Given the description of an element on the screen output the (x, y) to click on. 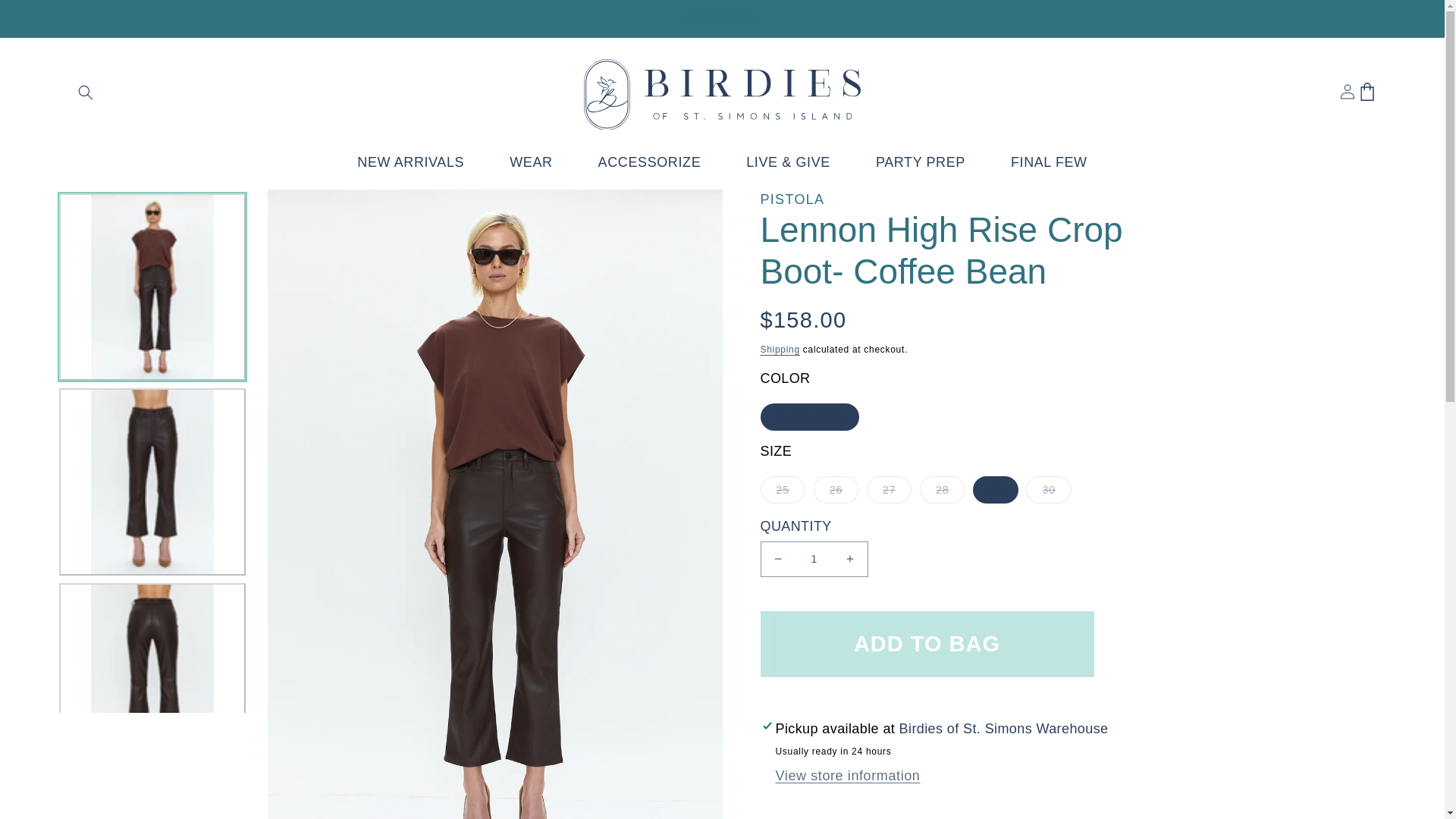
NEW ARRIVALS (421, 162)
1 (813, 559)
SKIP TO CONTENT (45, 17)
